Given the description of an element on the screen output the (x, y) to click on. 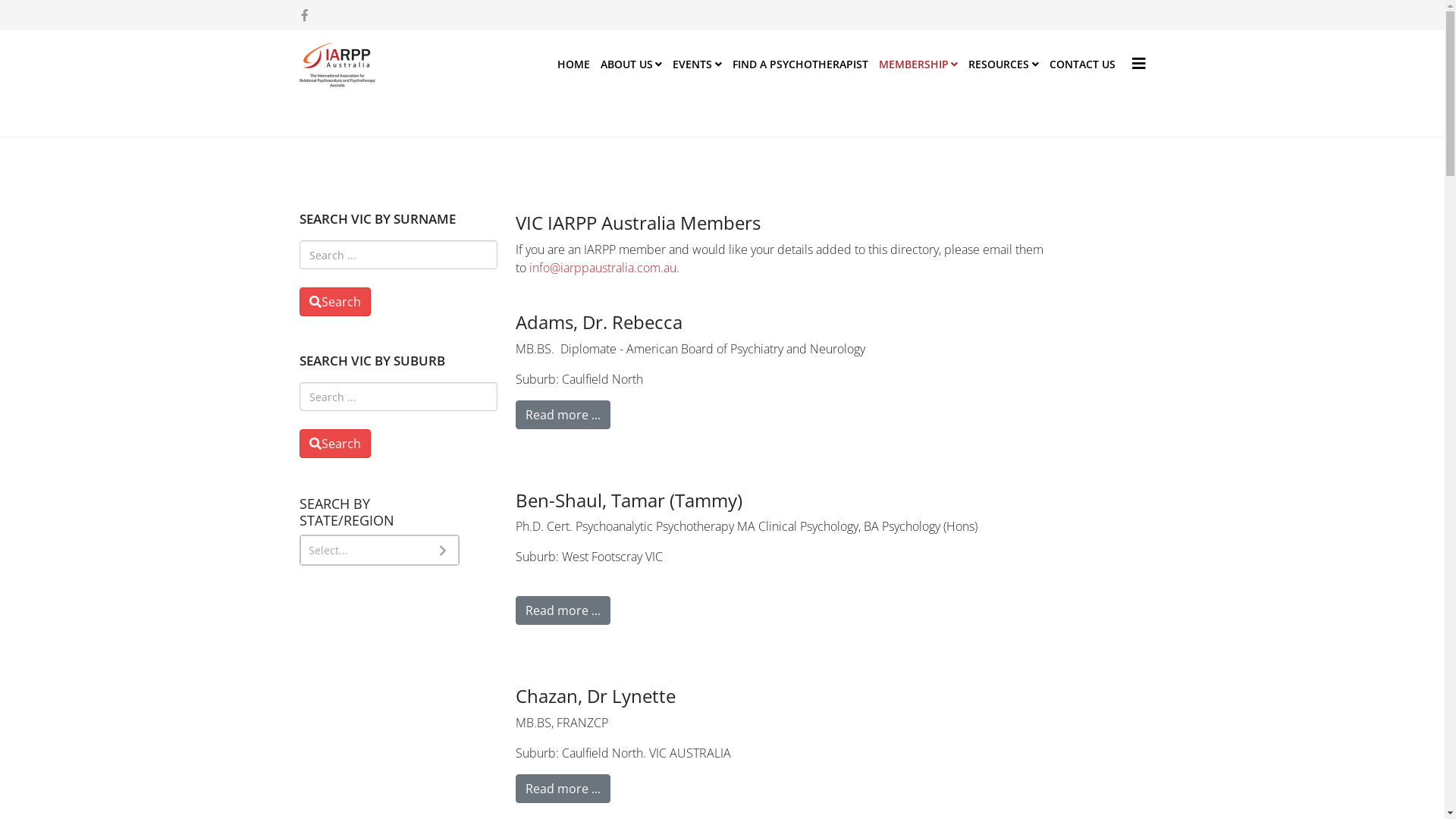
Read more ... Element type: text (562, 610)
info@iarppaustralia.com.au Element type: text (602, 267)
MEMBERSHIP Element type: text (918, 64)
Search Element type: text (334, 443)
FIND A PSYCHOTHERAPIST Element type: text (799, 64)
EVENTS Element type: text (697, 64)
HOME Element type: text (573, 64)
CONTACT US Element type: text (1081, 64)
RESOURCES Element type: text (1003, 64)
ABOUT US Element type: text (630, 64)
Helix3 Megamenu Options Element type: hover (1138, 63)
Read more ... Element type: text (562, 788)
Read more ... Element type: text (562, 414)
Search Element type: text (334, 301)
